Given the description of an element on the screen output the (x, y) to click on. 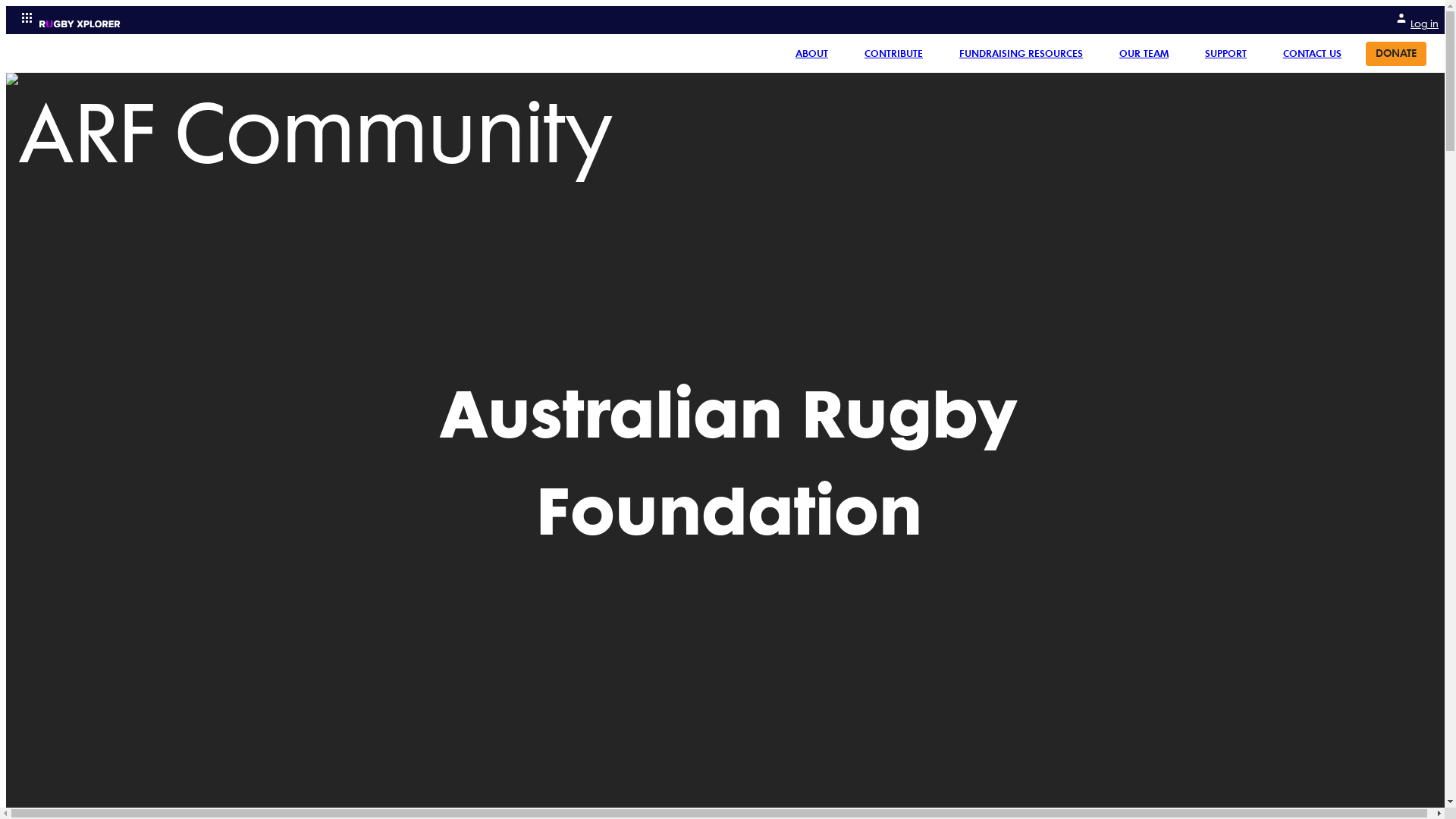
ABOUT Element type: text (811, 53)
FUNDRAISING RESOURCES Element type: text (1021, 53)
DONATE Element type: text (1395, 52)
CONTRIBUTE Element type: text (893, 53)
DONATE Element type: text (1395, 53)
My Account Element type: hover (1401, 18)
OUR TEAM Element type: text (1143, 53)
Log in Element type: text (1416, 20)
SUPPORT Element type: text (1225, 53)
CONTACT US Element type: text (1311, 53)
